Given the description of an element on the screen output the (x, y) to click on. 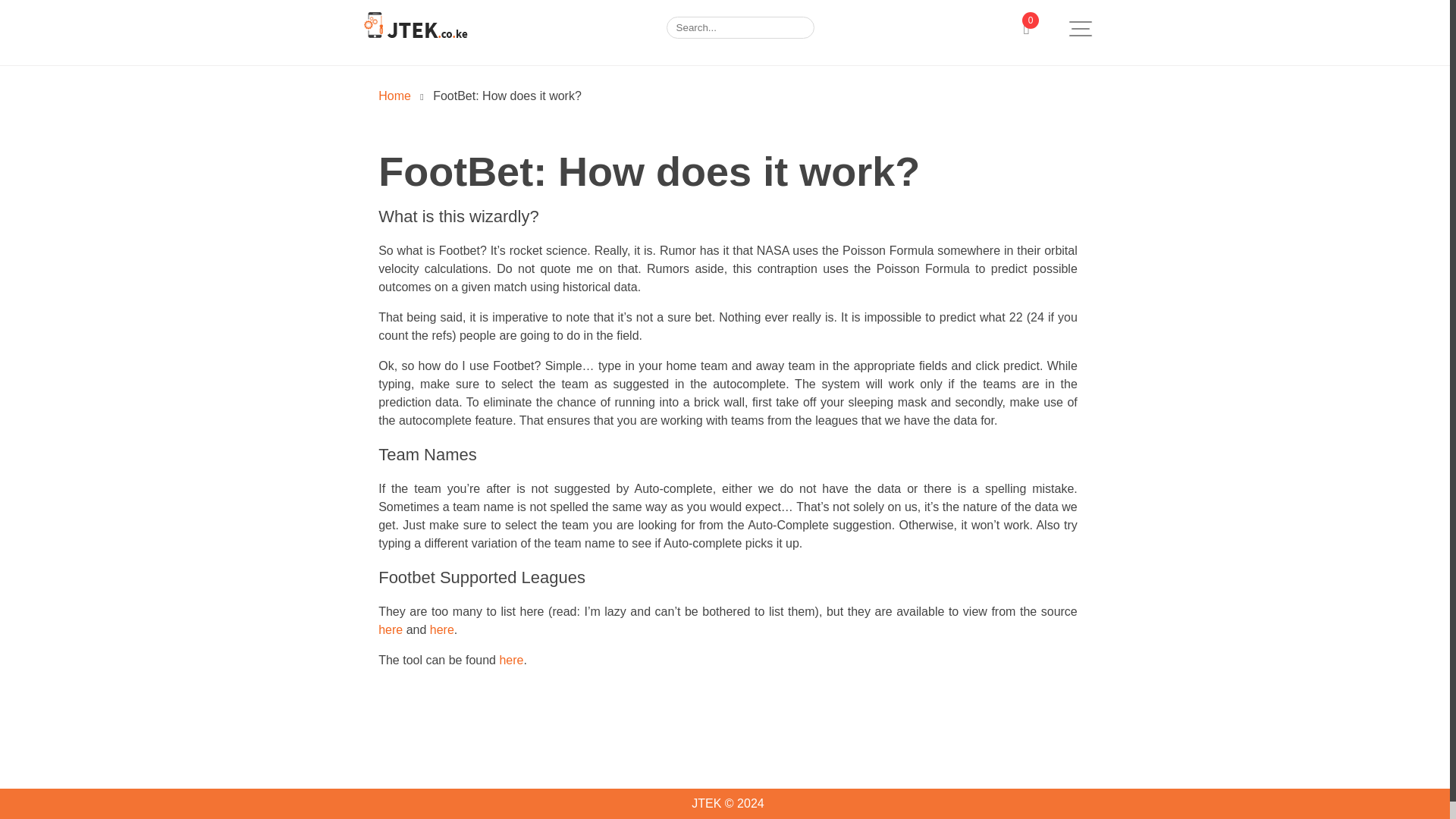
Home (394, 95)
JTEK (394, 95)
here (390, 629)
here (510, 659)
here (441, 629)
